Given the description of an element on the screen output the (x, y) to click on. 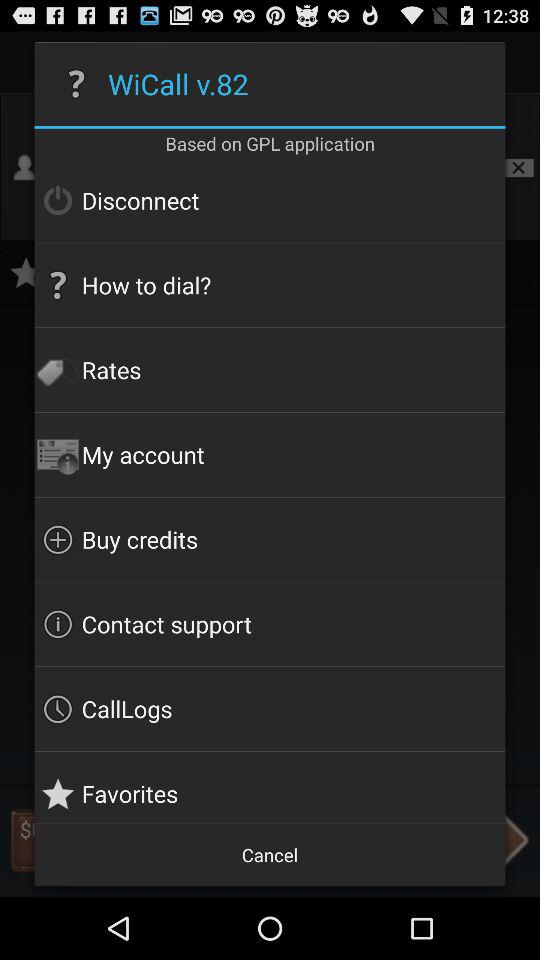
tap the contact support app (269, 624)
